Given the description of an element on the screen output the (x, y) to click on. 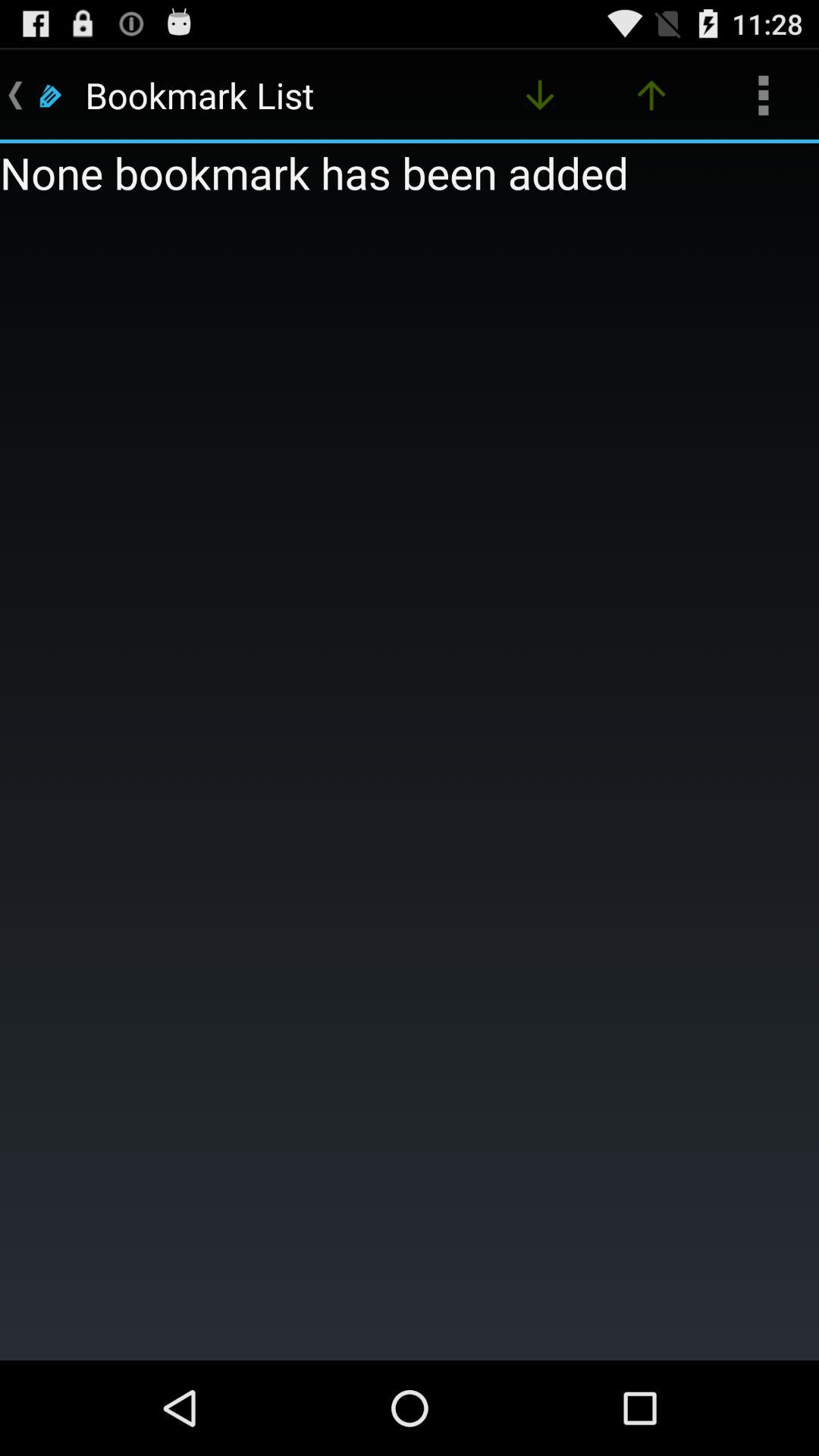
click the app next to the bookmark list app (540, 95)
